Given the description of an element on the screen output the (x, y) to click on. 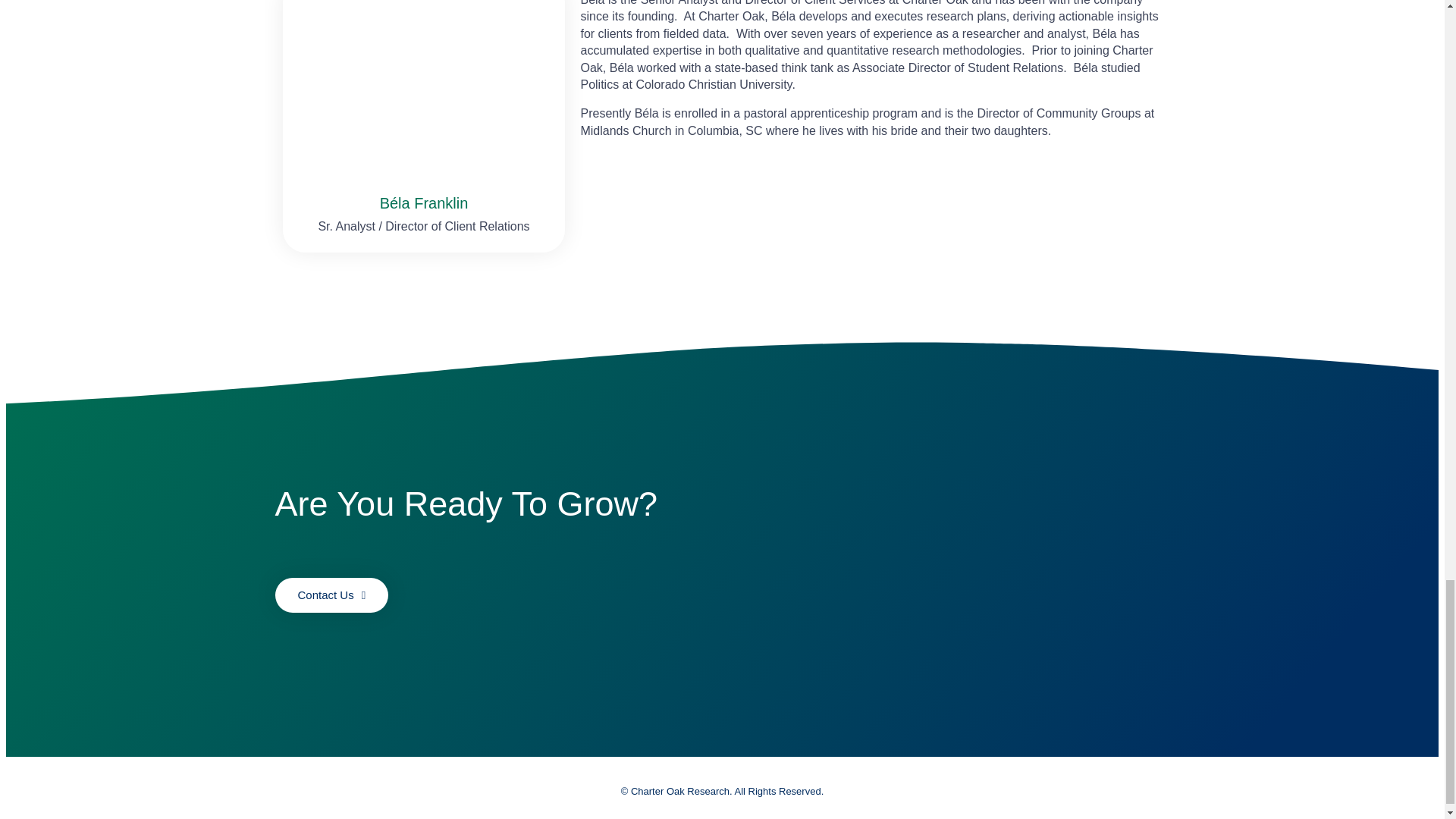
Contact Us (331, 595)
